Given the description of an element on the screen output the (x, y) to click on. 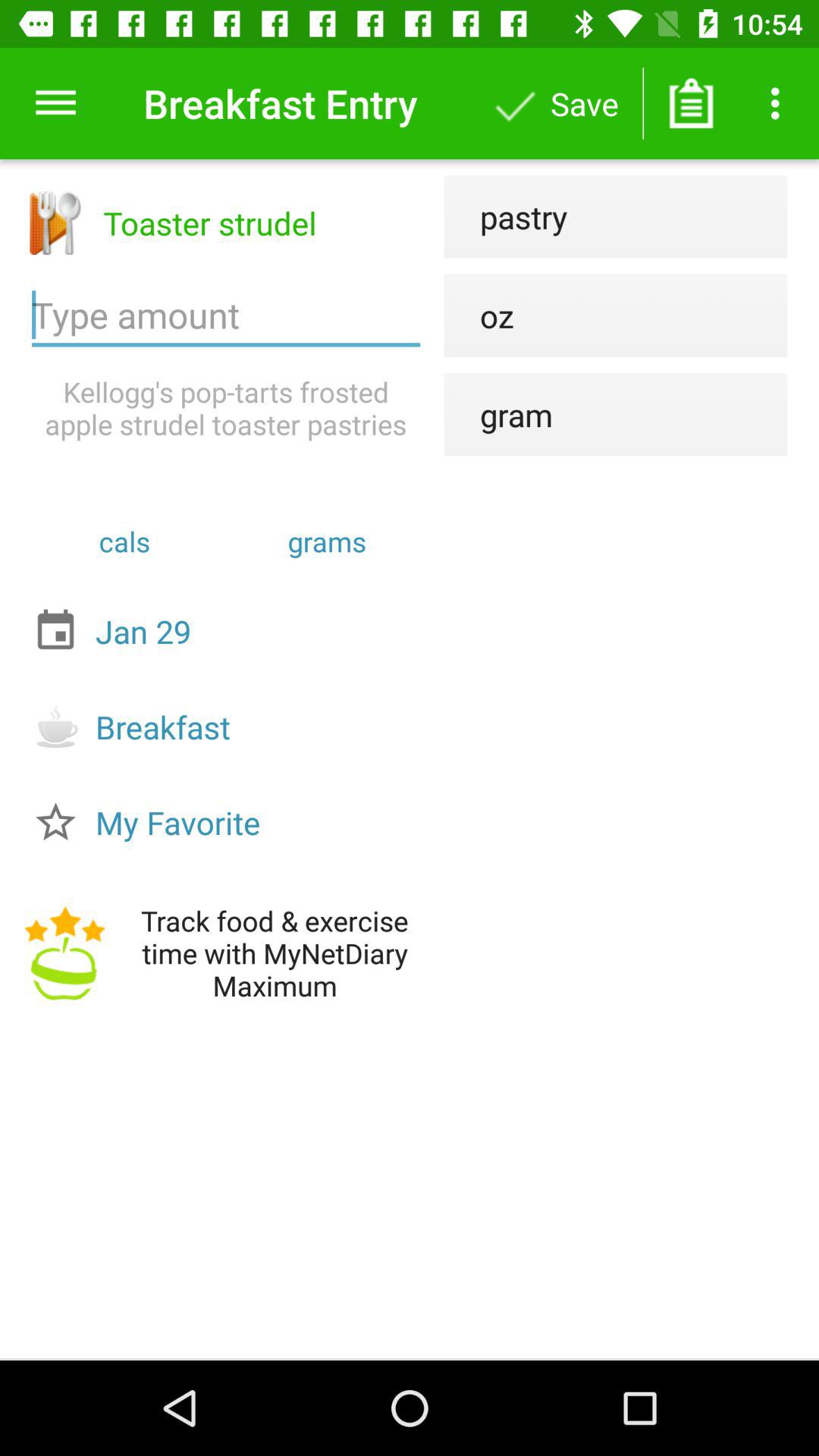
select icon next to the   oz icon (225, 315)
